Given the description of an element on the screen output the (x, y) to click on. 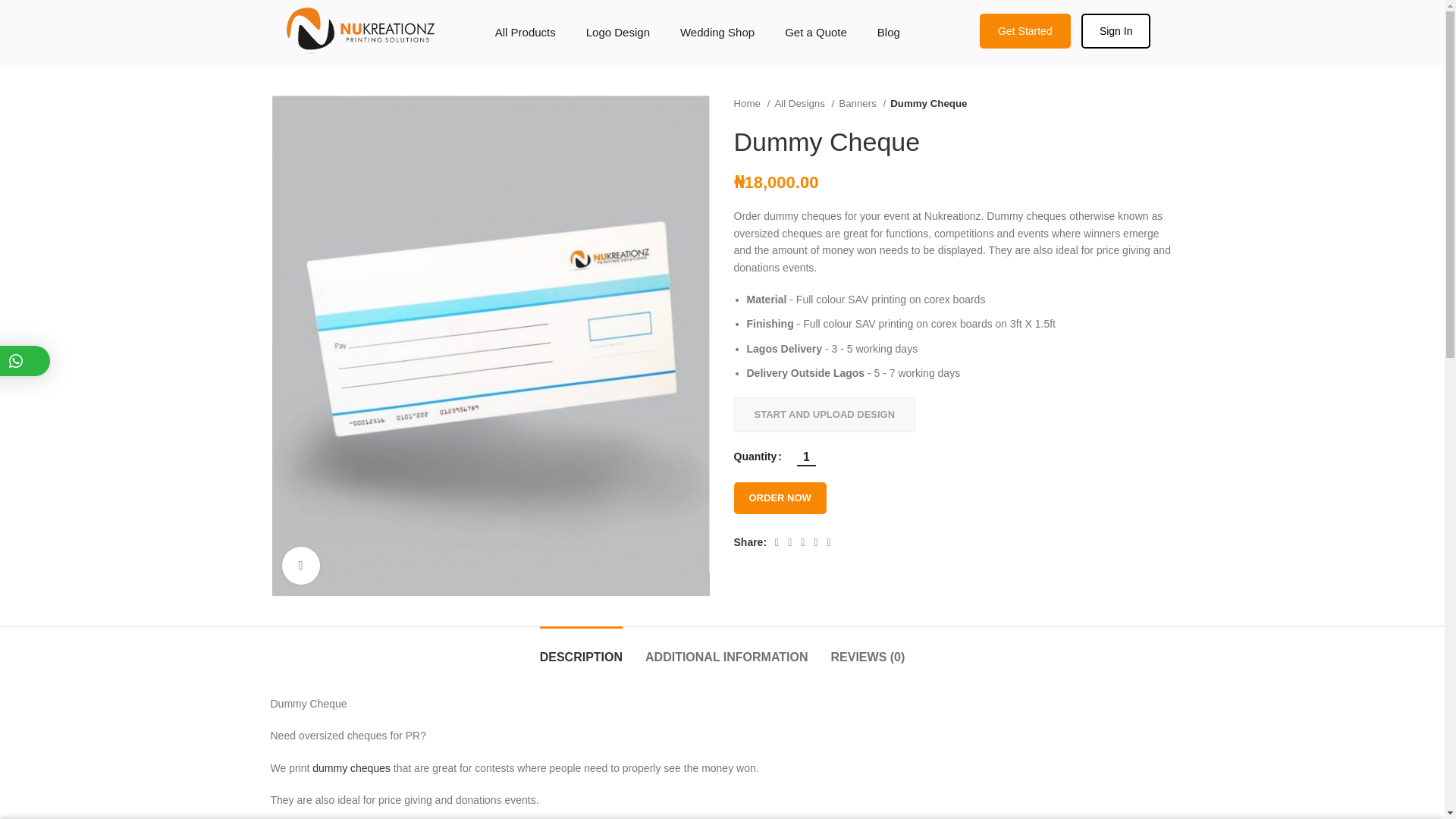
All Products (525, 32)
Wedding Shop (717, 32)
Get a Quote (815, 32)
Logo Design (617, 32)
Blog (888, 32)
